Given the description of an element on the screen output the (x, y) to click on. 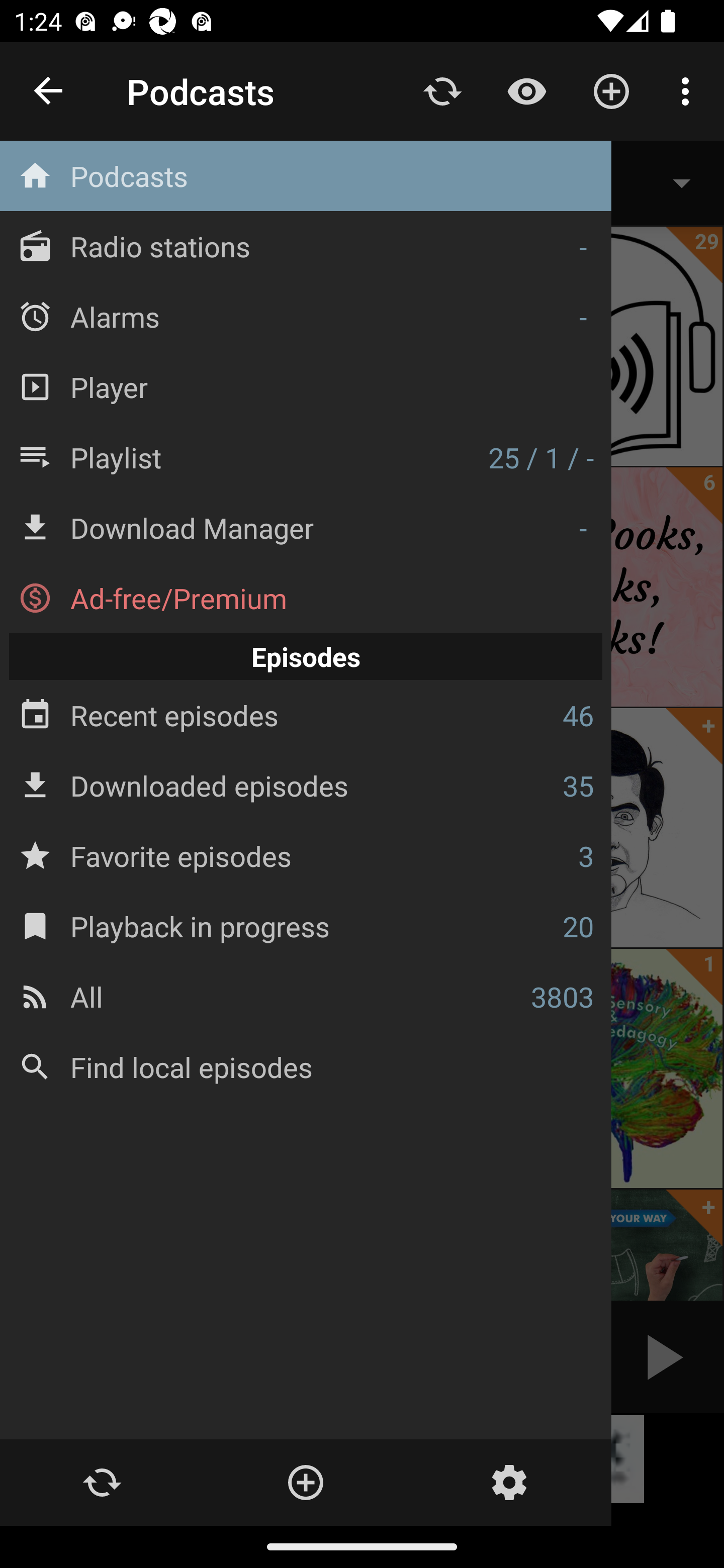
Close navigation sidebar (49, 91)
Update (442, 90)
Show / Hide played content (526, 90)
Add new Podcast (611, 90)
More options (688, 90)
Podcasts (305, 176)
Radio stations  -  (305, 245)
Alarms  -  (305, 315)
Player (305, 386)
Playlist 25 / 1 / - (305, 456)
Download Manager  -  (305, 527)
Ad-free/Premium (305, 597)
Recent episodes 46 (305, 715)
Downloaded episodes 35 (305, 785)
Favorite episodes 3 (305, 855)
Playback in progress 20 (305, 925)
All 3803 (305, 996)
Find local episodes (305, 1066)
Update (101, 1482)
Add new Podcast (304, 1482)
Settings (508, 1482)
